Given the description of an element on the screen output the (x, y) to click on. 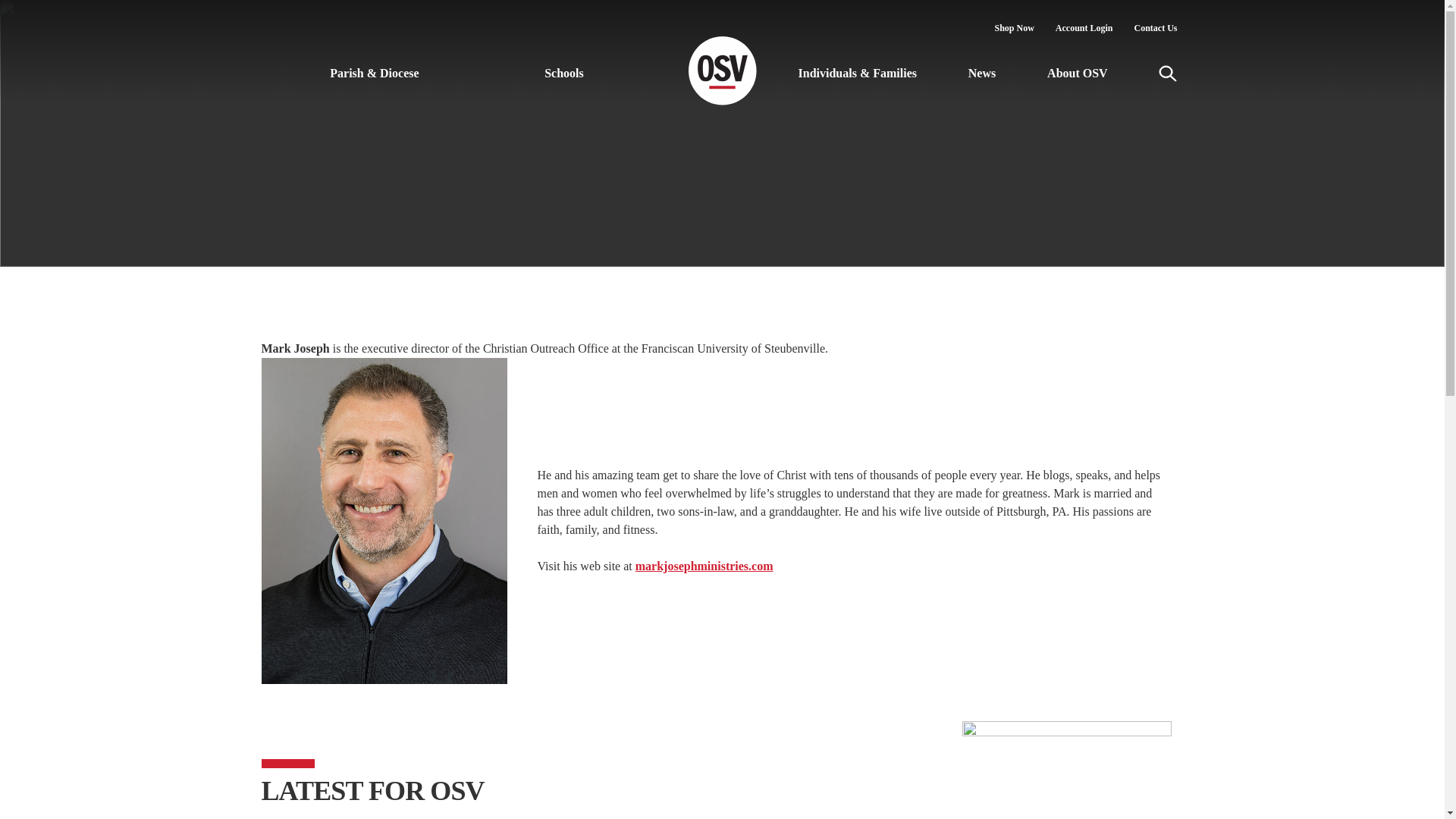
Contact Us (1155, 27)
Shop Now (1013, 27)
Home (722, 76)
Account Login (1084, 27)
